Given the description of an element on the screen output the (x, y) to click on. 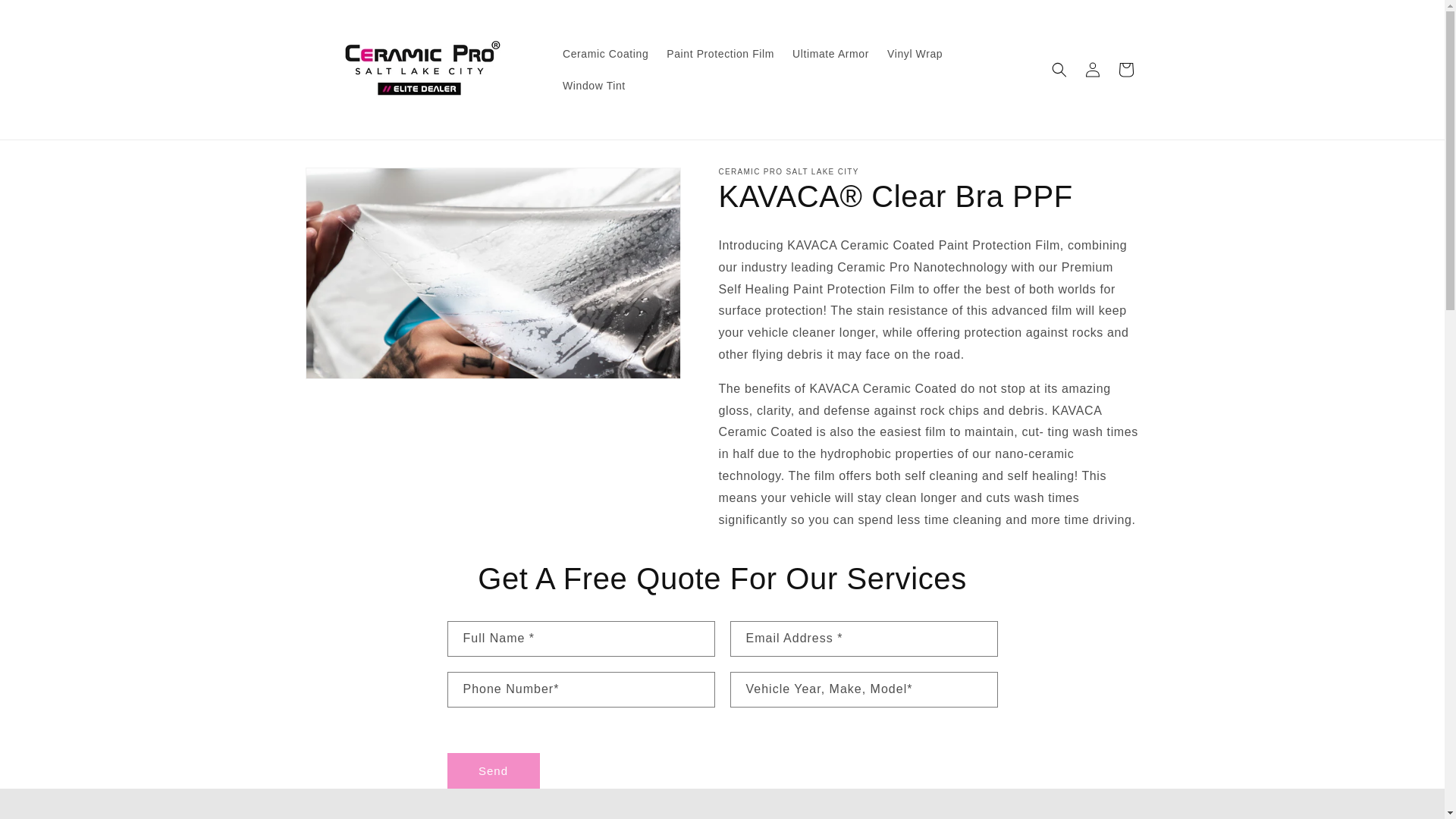
Vinyl Wrap (914, 53)
Paint Protection Film (720, 53)
Ultimate Armor (830, 53)
Skip to product information (350, 184)
Skip to content (45, 17)
Cart (1124, 69)
Ceramic Coating (605, 53)
Send (493, 770)
Log in (1091, 69)
Window Tint (593, 85)
